Given the description of an element on the screen output the (x, y) to click on. 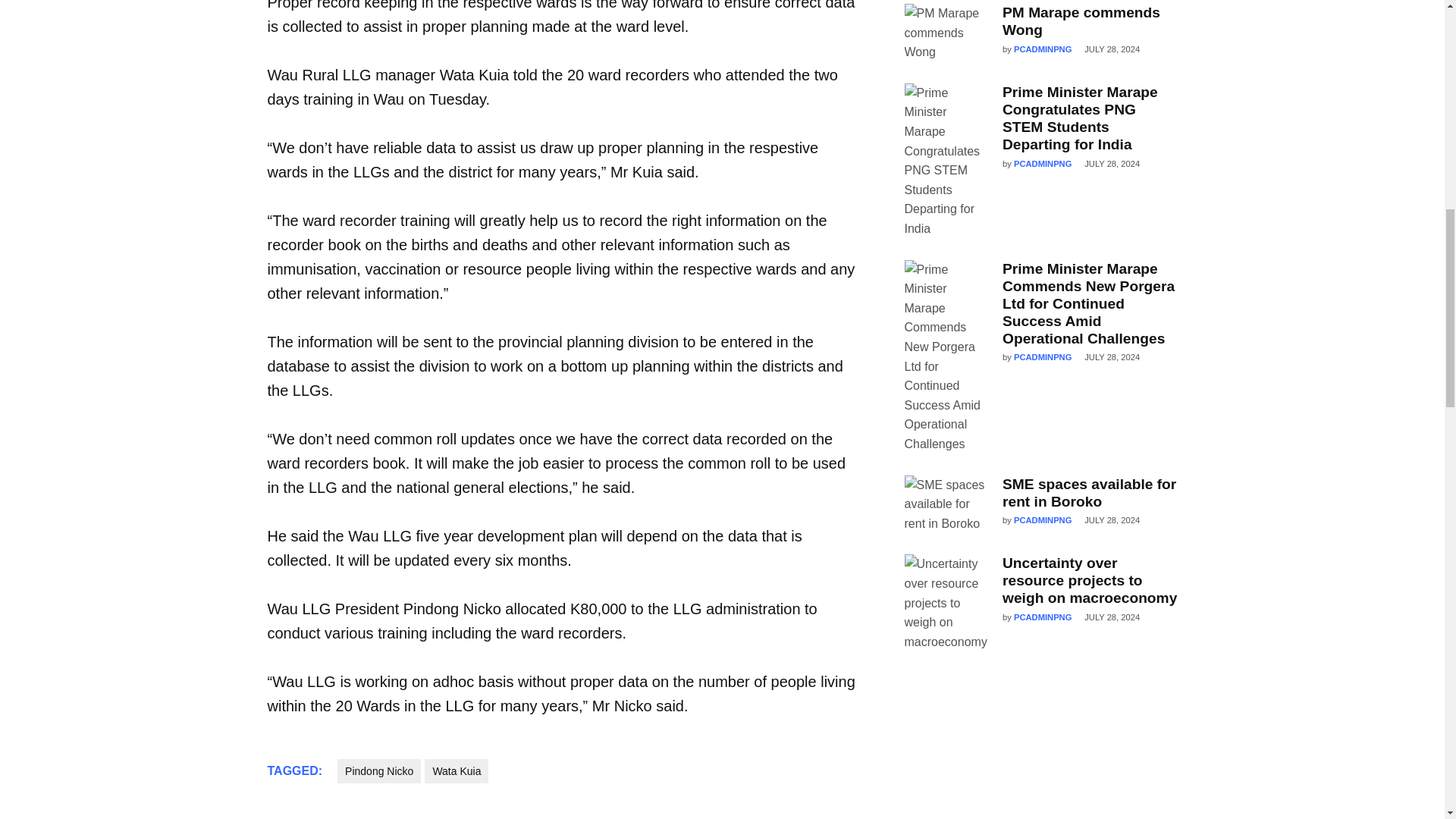
VideoPress Video Player (1040, 748)
